Given the description of an element on the screen output the (x, y) to click on. 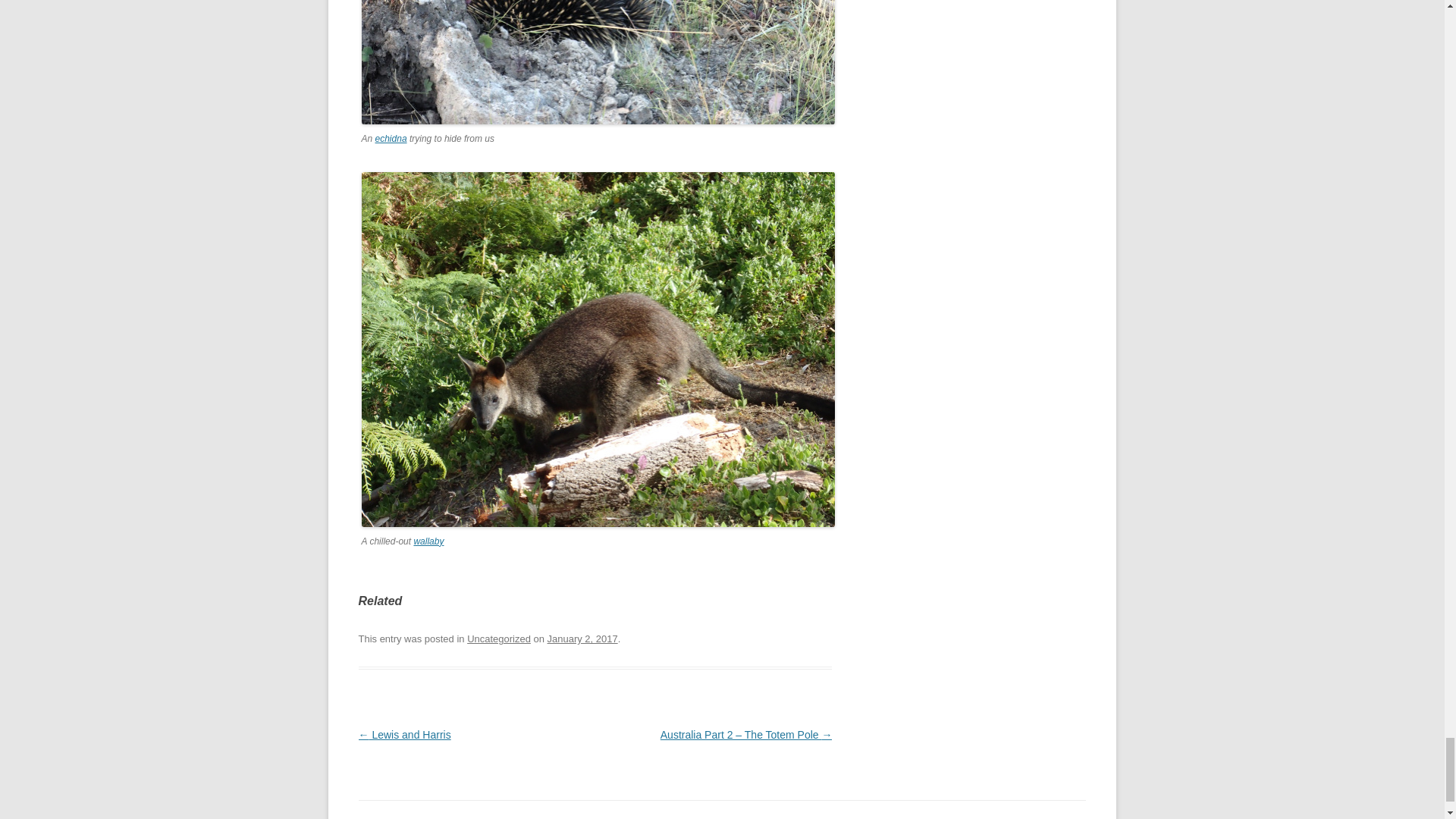
echidna (391, 138)
8:28 am (582, 638)
wallaby (428, 541)
January 2, 2017 (582, 638)
Uncategorized (499, 638)
